Given the description of an element on the screen output the (x, y) to click on. 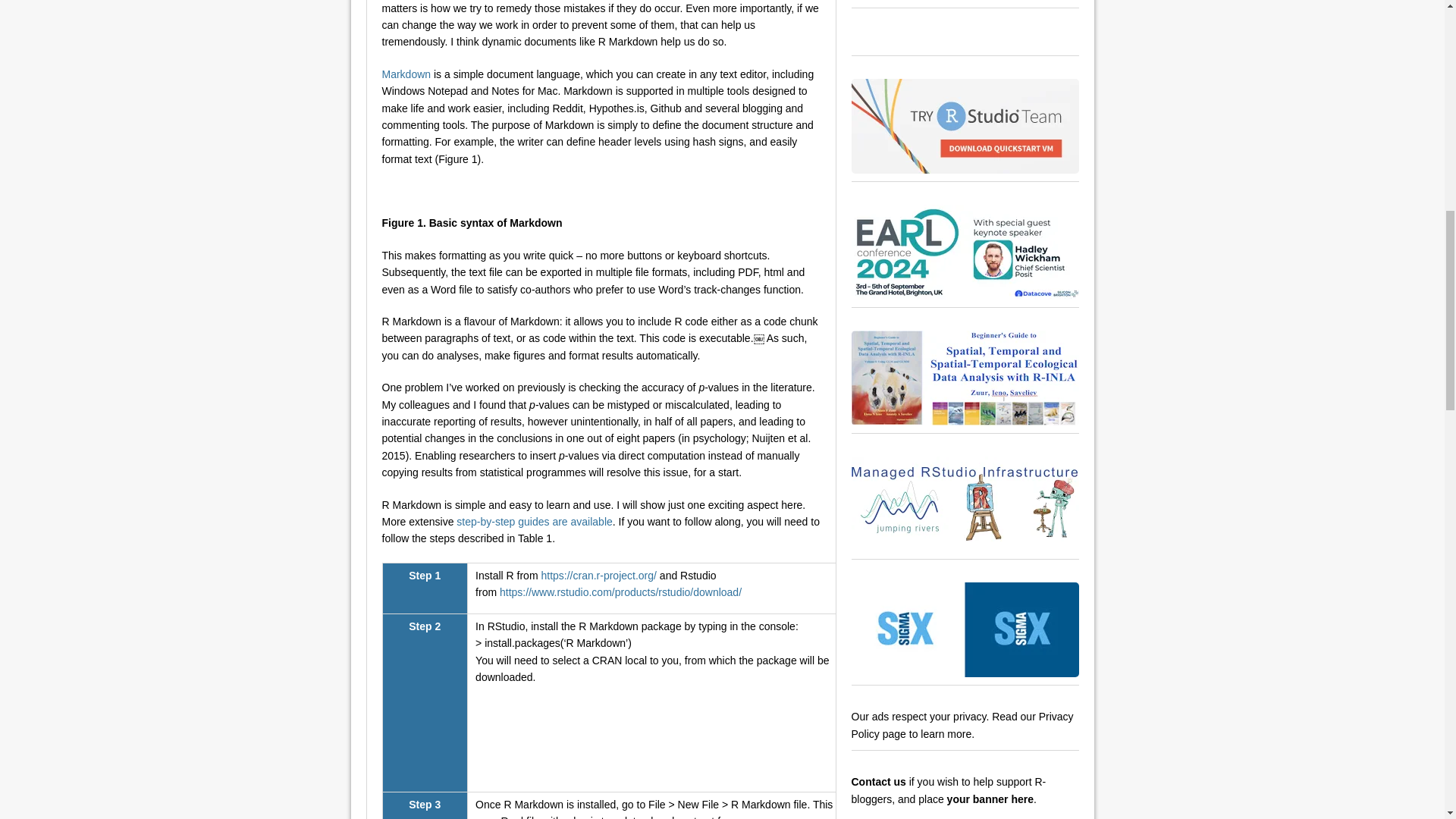
step-by-step guides are available (534, 521)
Markdown (405, 73)
